Given the description of an element on the screen output the (x, y) to click on. 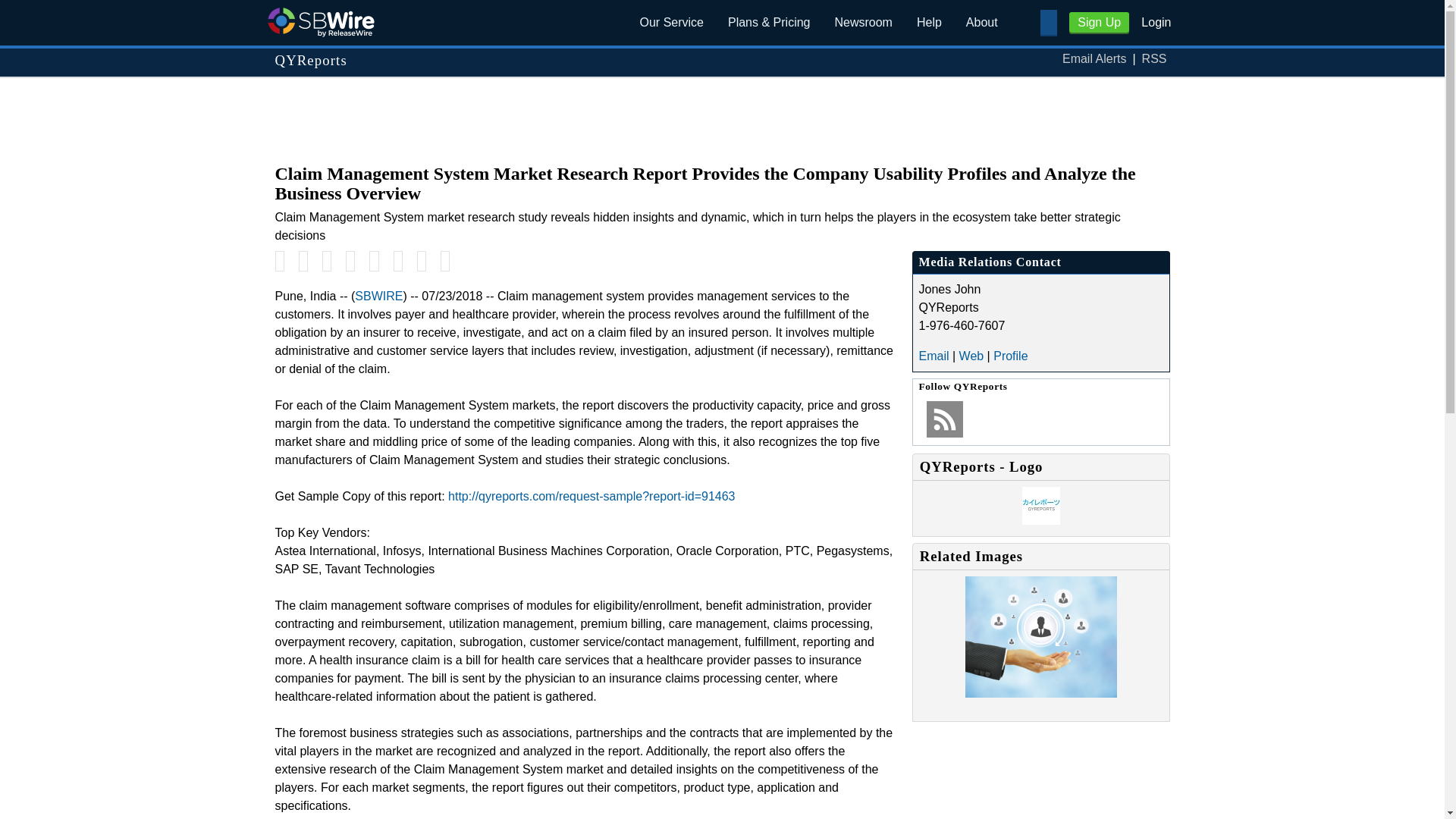
Sign Up (1098, 22)
Claim Management System Market (1039, 693)
Our Service (671, 22)
Help (928, 22)
SBWire (320, 21)
About (981, 22)
Login (1155, 21)
Email (933, 355)
QYReports - Logo (1040, 520)
Newsroom (863, 22)
RSS (1154, 58)
SBWIRE (379, 295)
Profile (1009, 355)
Advertisement (721, 111)
Web (971, 355)
